Given the description of an element on the screen output the (x, y) to click on. 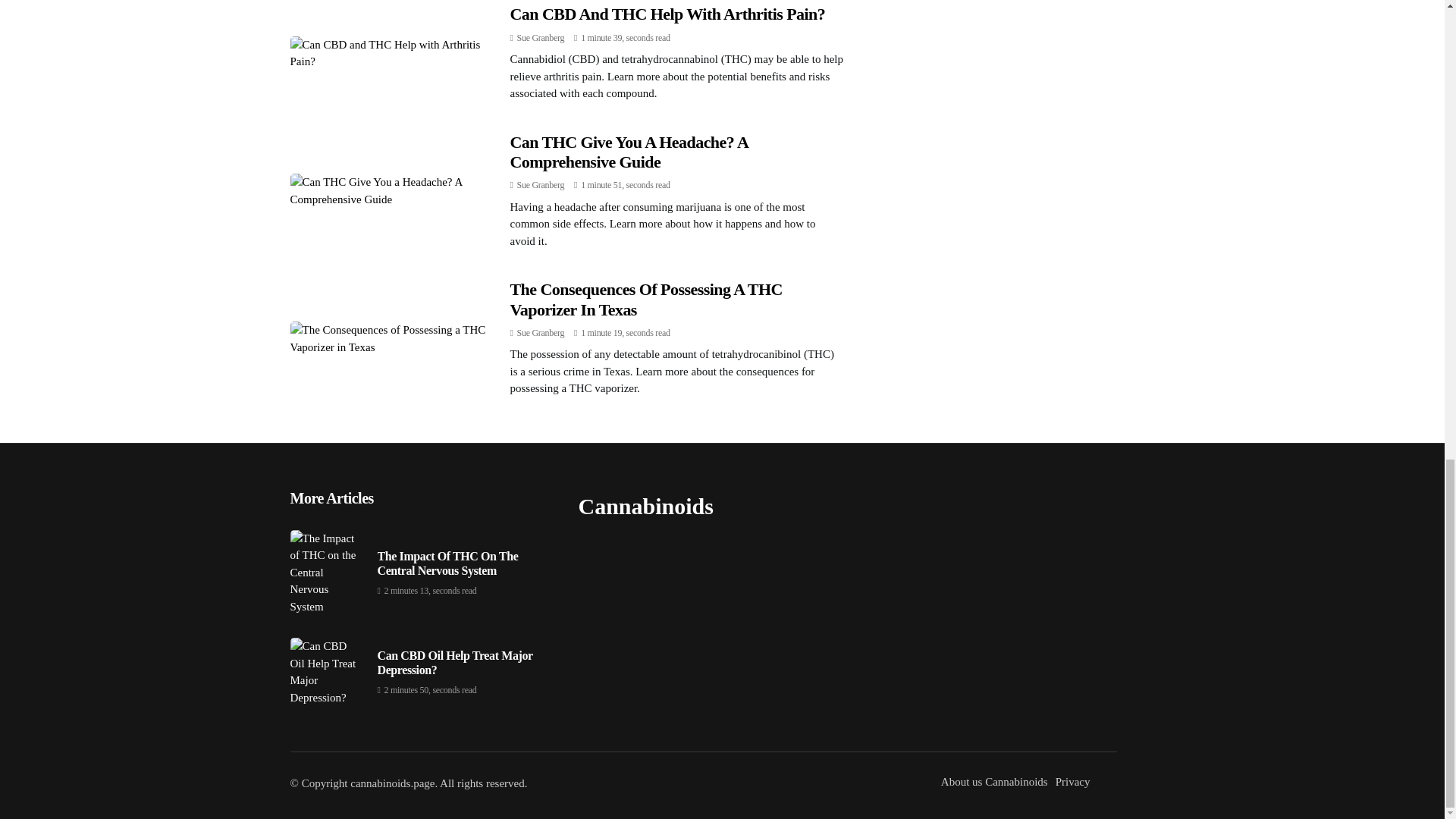
Posts by Sue Granberg (540, 332)
Posts by Sue Granberg (540, 184)
Sue Granberg (540, 184)
Posts by Sue Granberg (540, 37)
Can THC Give You A Headache? A Comprehensive Guide (628, 151)
Sue Granberg (540, 332)
The Consequences Of Possessing A THC Vaporizer In Texas (645, 299)
Sue Granberg (540, 37)
Can CBD And THC Help With Arthritis Pain? (667, 13)
